Given the description of an element on the screen output the (x, y) to click on. 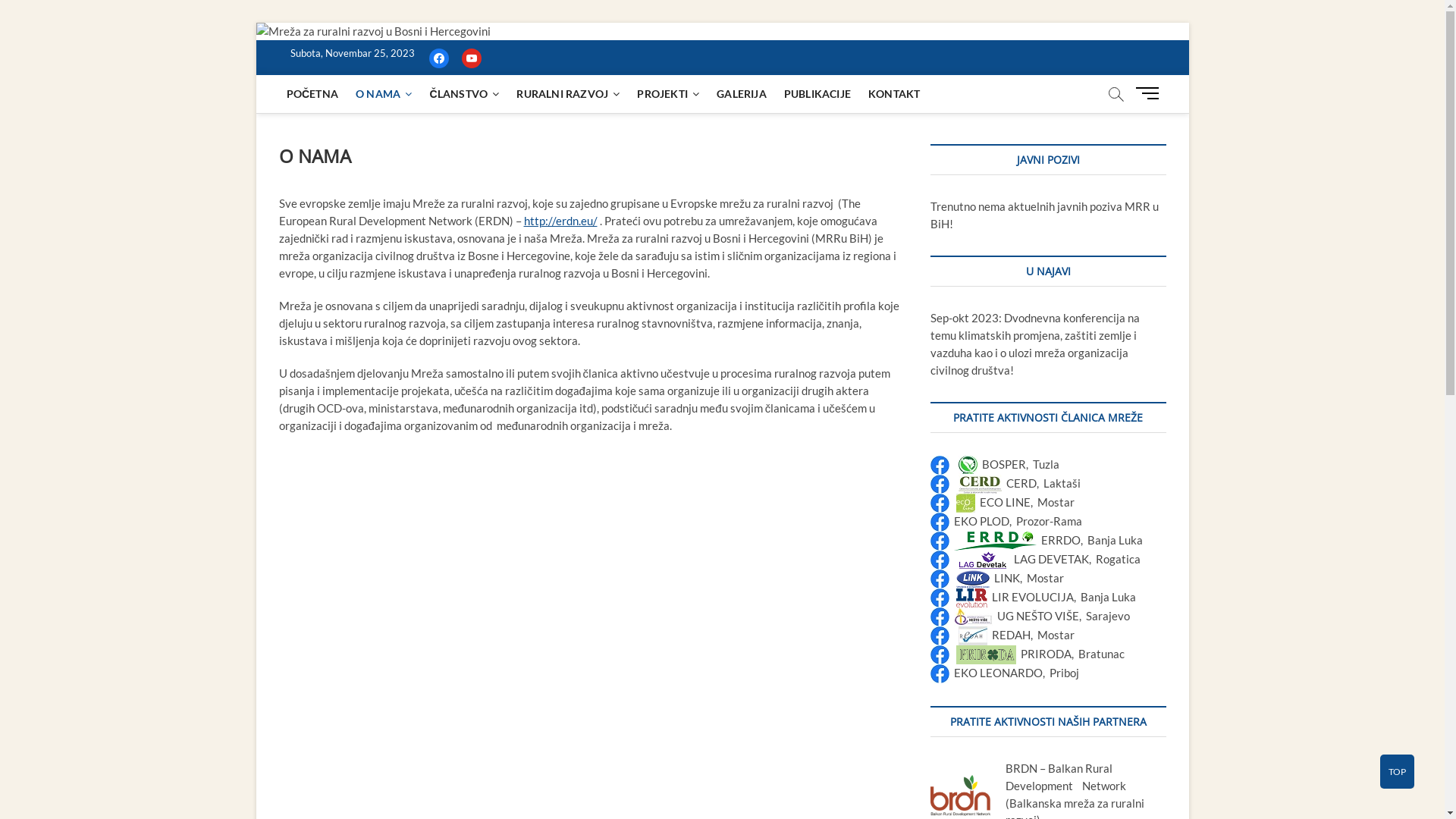
KONTAKT Element type: text (893, 93)
GALERIJA Element type: text (741, 93)
RURALNI RAZVOJ Element type: text (567, 93)
http://erdn.eu/ Element type: text (559, 220)
Skip to content Element type: text (254, 21)
facebook Element type: text (438, 56)
Menu Button Element type: text (1150, 92)
TOP Element type: text (1397, 771)
O NAMA Element type: text (383, 93)
PUBLIKACIJE Element type: text (817, 93)
PROJEKTI Element type: text (667, 93)
youtube Element type: text (470, 56)
